Given the description of an element on the screen output the (x, y) to click on. 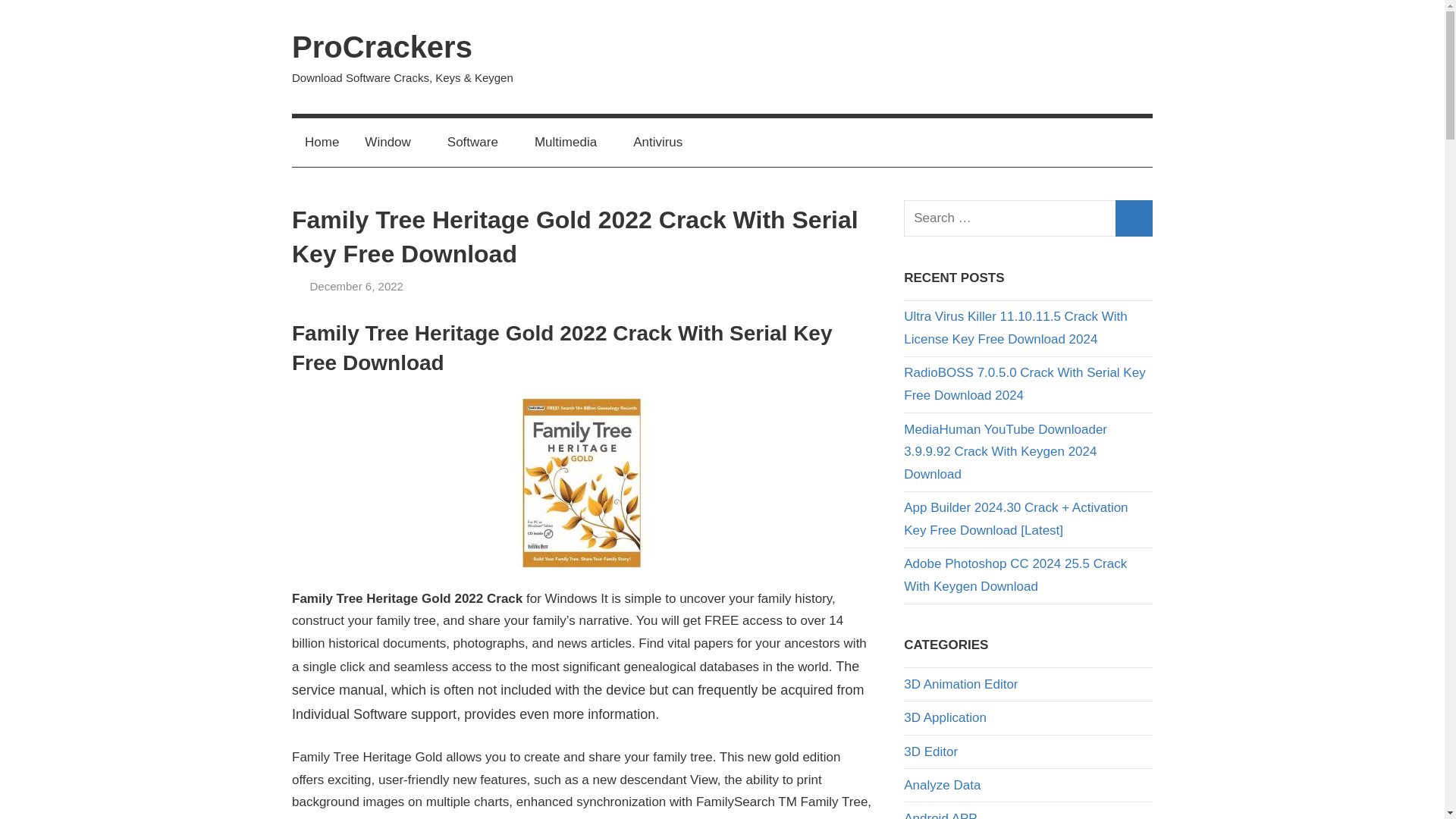
Window (392, 142)
Search for: (1028, 218)
ProCrackers (381, 46)
2:17 pm (355, 286)
Home (322, 142)
Software (477, 142)
